Given the description of an element on the screen output the (x, y) to click on. 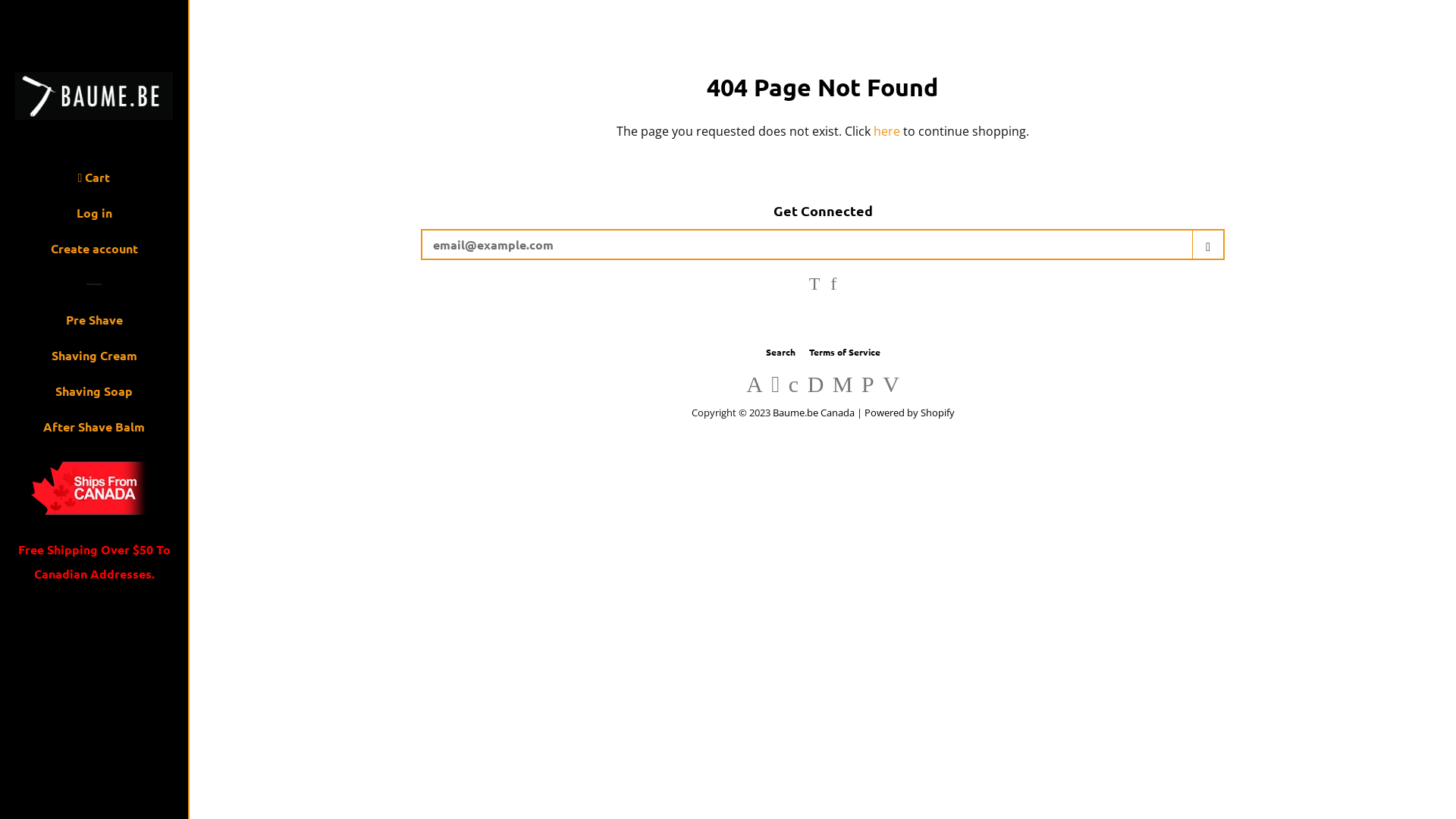
Log in Element type: text (93, 218)
Terms of Service Element type: text (843, 351)
Baume.be Canada Element type: text (813, 412)
Facebook Element type: text (833, 284)
here Element type: text (886, 130)
Search Element type: text (780, 351)
Shaving Soap Element type: text (93, 396)
Create account Element type: text (93, 254)
After Shave Balm Element type: text (93, 432)
Cart Element type: text (94, 182)
Shaving Cream Element type: text (93, 361)
Twitter Element type: text (814, 284)
Powered by Shopify Element type: text (909, 412)
Subscribe Element type: text (1207, 244)
Pre Shave Element type: text (93, 325)
